Given the description of an element on the screen output the (x, y) to click on. 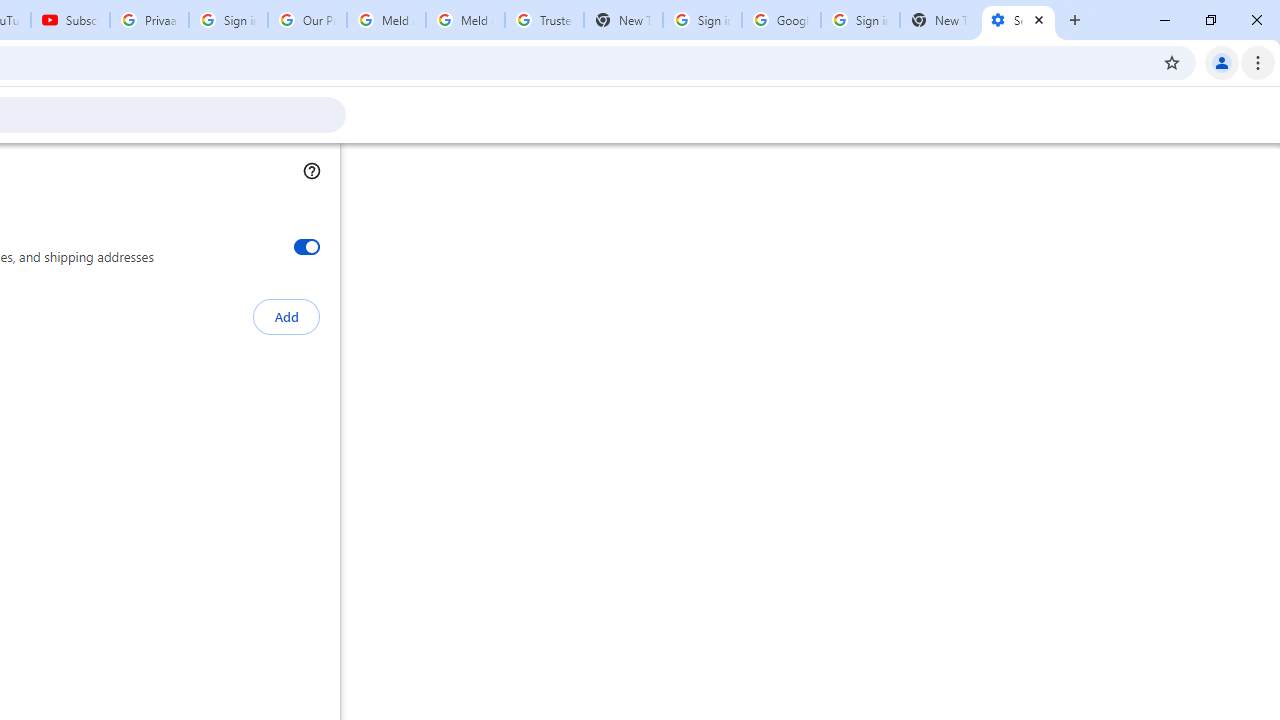
Settings - Addresses and more (1018, 20)
